Given the description of an element on the screen output the (x, y) to click on. 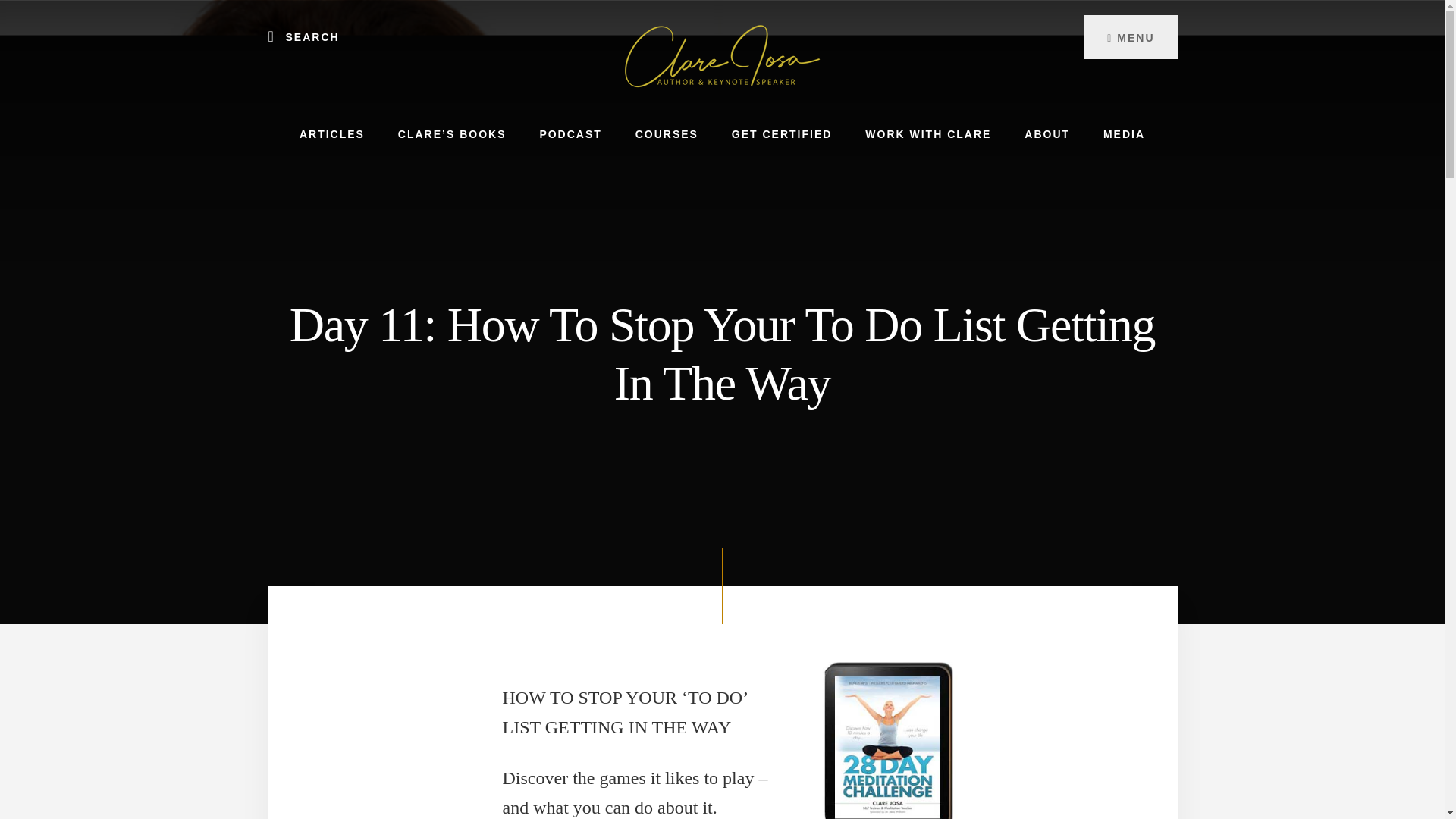
PODCAST (569, 134)
ABOUT (1046, 134)
ARTICLES (331, 134)
COURSES (666, 134)
GET CERTIFIED (781, 134)
WORK WITH CLARE (928, 134)
MENU (1130, 36)
MEDIA (1123, 134)
